Given the description of an element on the screen output the (x, y) to click on. 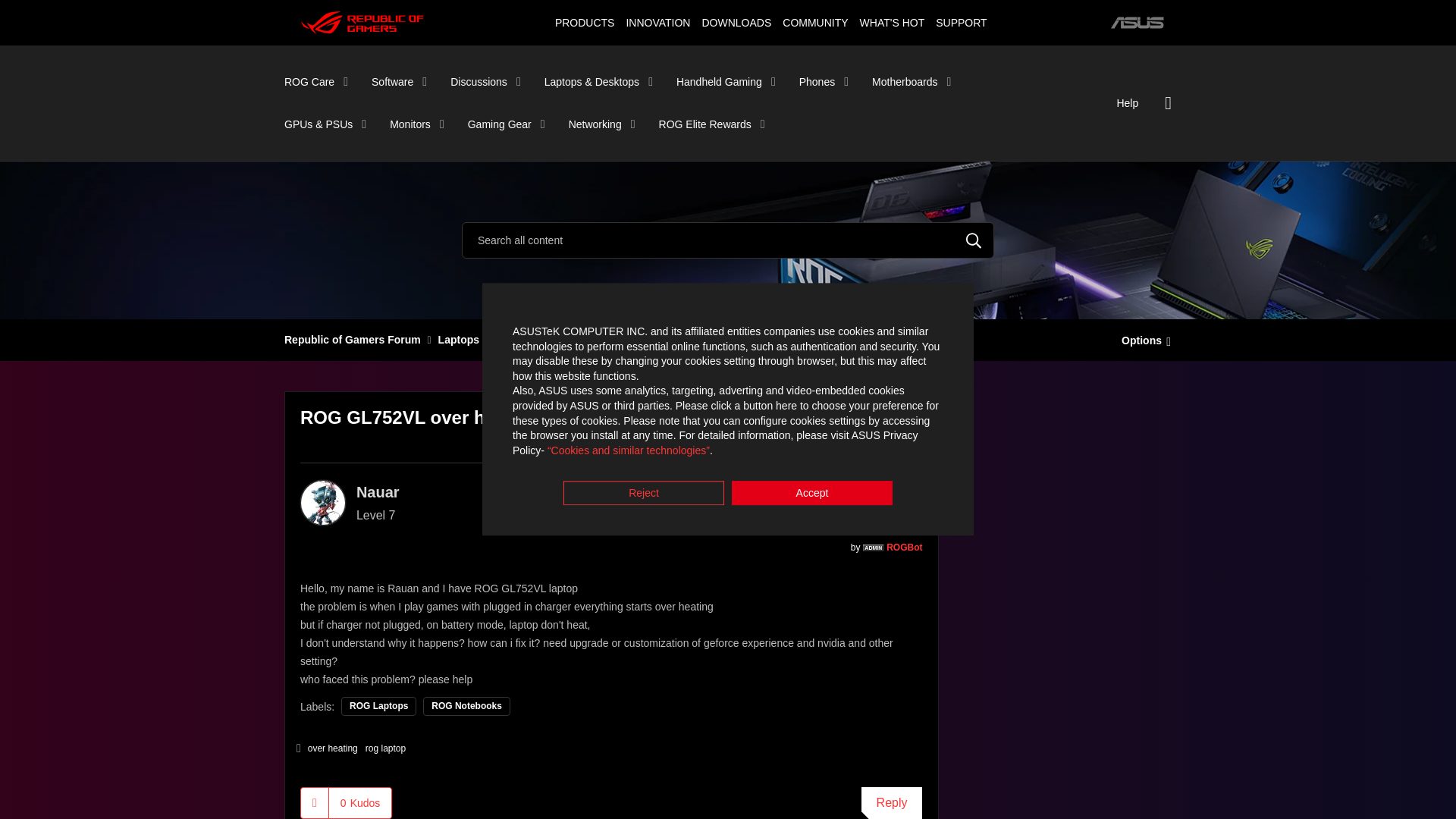
Show option menu (1142, 339)
PRODUCTS (584, 22)
Nauar (322, 502)
DOWNLOADS (736, 22)
Community Admin (873, 547)
Search (973, 239)
Click here to give kudos to this post. (315, 802)
The total number of kudos this post has received. (360, 802)
Search (973, 239)
COMMUNITY (815, 22)
INNOVATION (657, 22)
Search (727, 239)
